Given the description of an element on the screen output the (x, y) to click on. 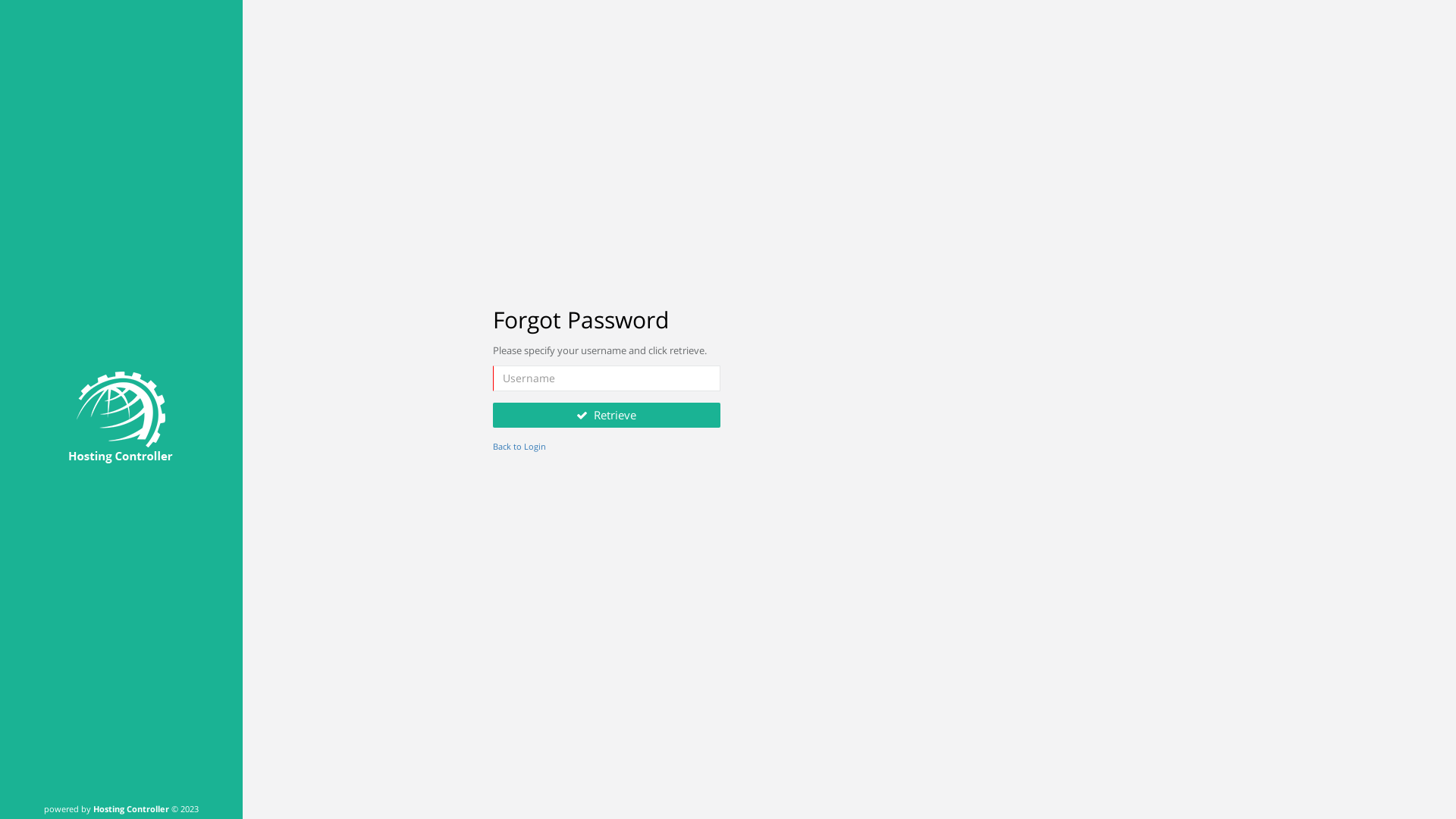
Hosting Controller Element type: text (131, 808)
Back to Login Element type: text (519, 445)
  Retrieve Element type: text (606, 414)
